Given the description of an element on the screen output the (x, y) to click on. 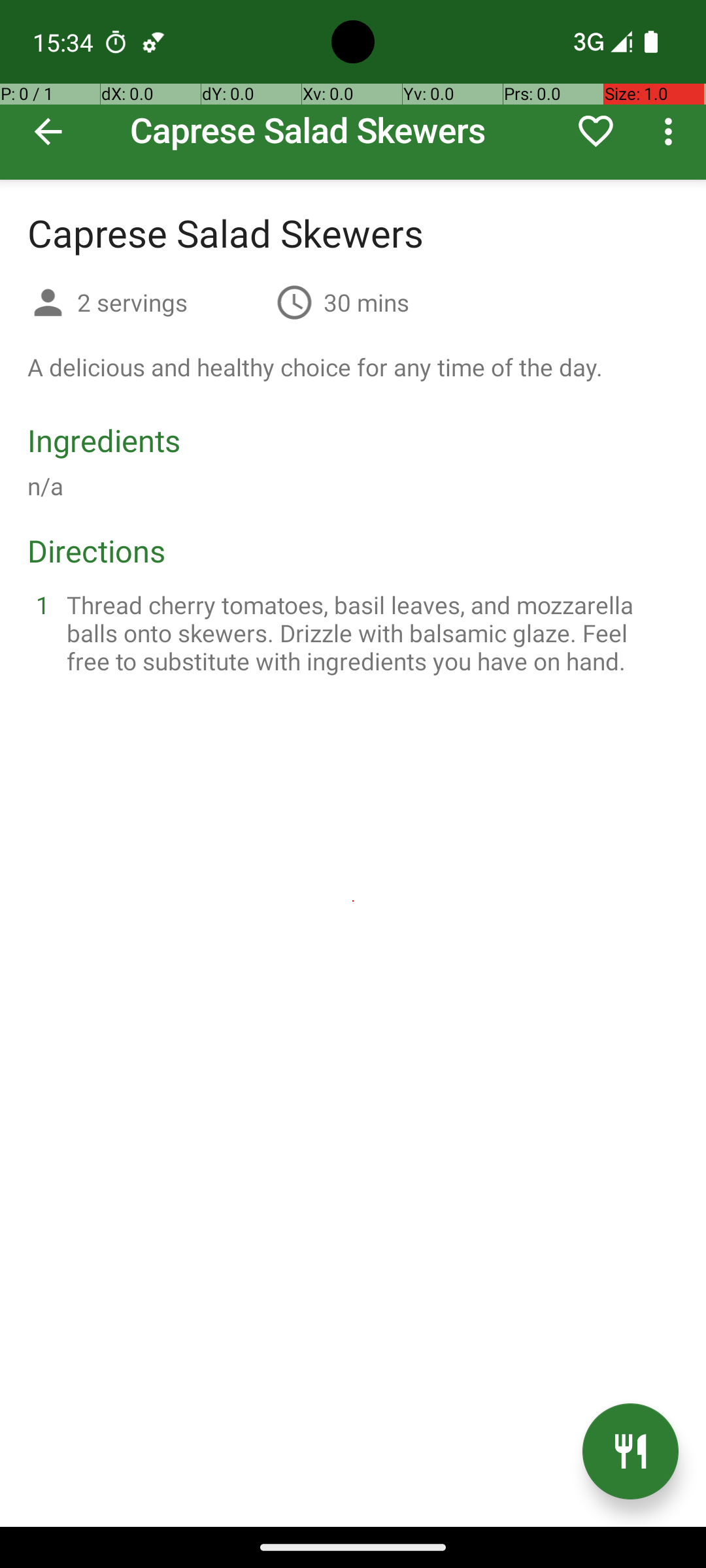
Thread cherry tomatoes, basil leaves, and mozzarella balls onto skewers. Drizzle with balsamic glaze. Feel free to substitute with ingredients you have on hand. Element type: android.widget.TextView (368, 632)
